Given the description of an element on the screen output the (x, y) to click on. 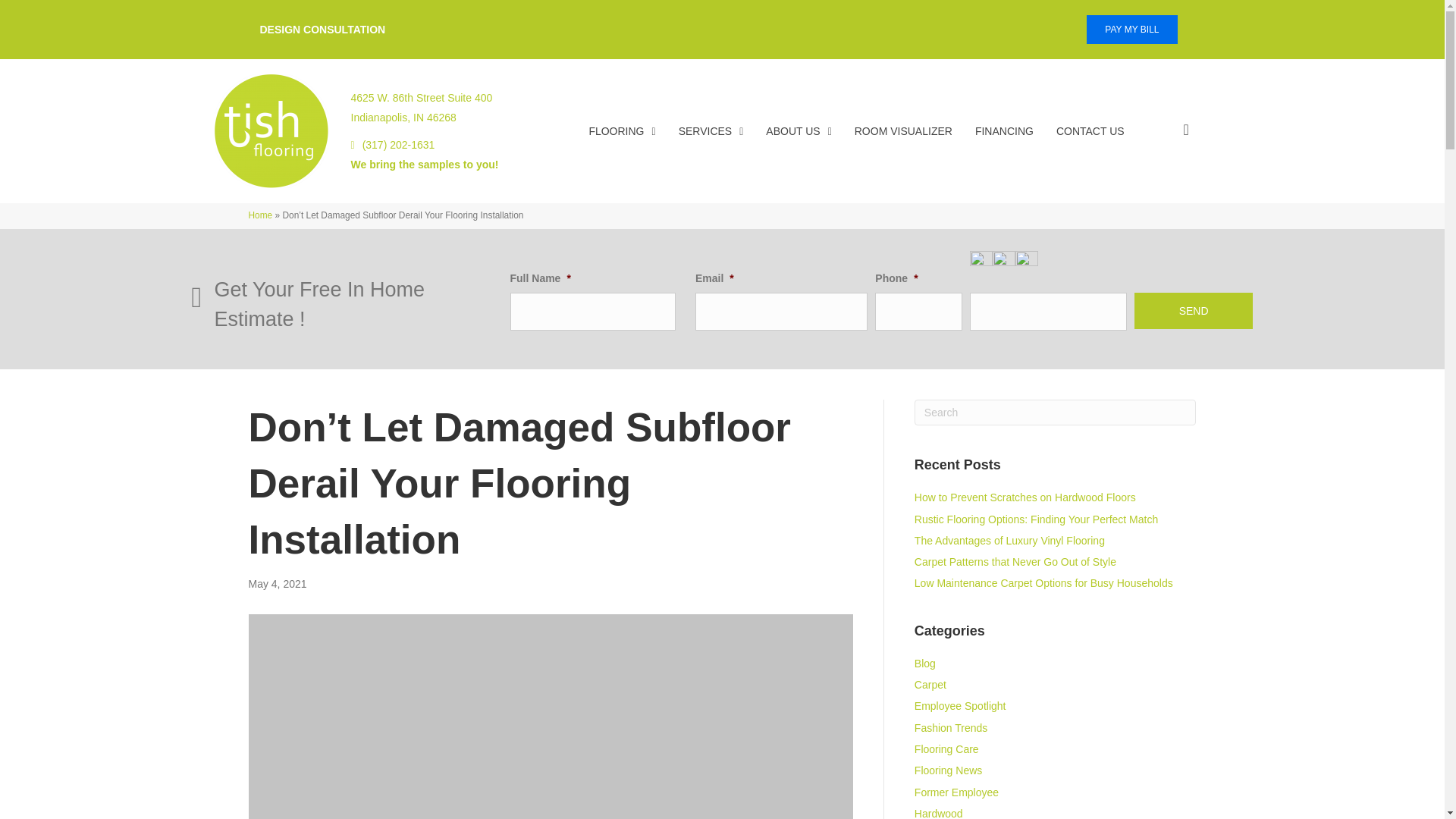
SEND (1193, 311)
We bring the samples to you! (423, 164)
DESIGN CONSULTATION (322, 29)
PAY MY BILL (1131, 29)
Type and press Enter to search. (1055, 412)
FLOORING (421, 111)
